Given the description of an element on the screen output the (x, y) to click on. 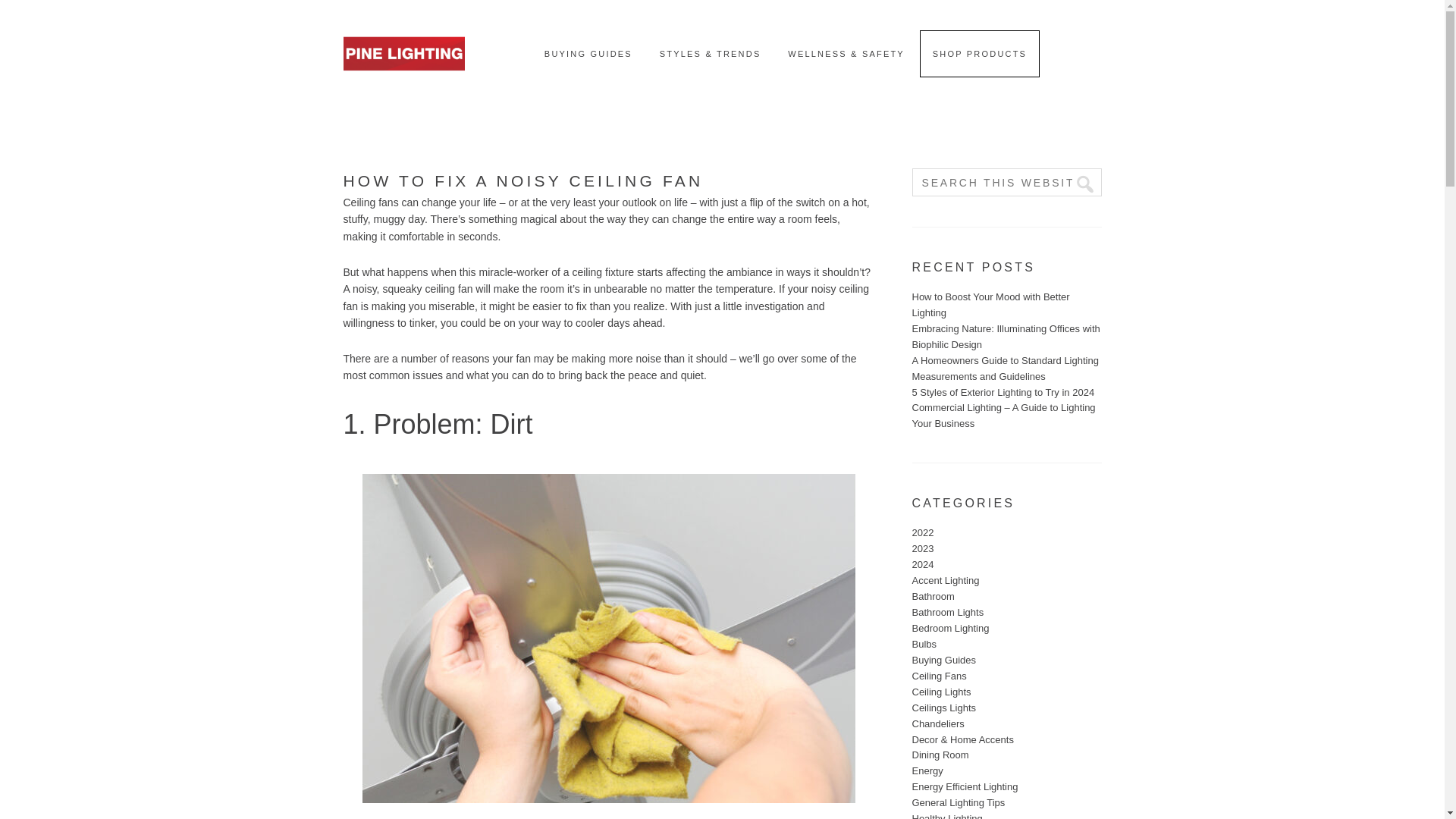
2022 (922, 532)
SHOP PRODUCTS (979, 53)
5 Styles of Exterior Lighting to Try in 2024 (1002, 392)
Search (1078, 184)
How to Boost Your Mood with Better Lighting (989, 304)
Search (1078, 184)
BUYING GUIDES (587, 53)
Embracing Nature: Illuminating Offices with Biophilic Design (1005, 336)
Search (1078, 184)
PINE LIGHTING (403, 21)
2023 (922, 548)
PINE LIGHTING (403, 80)
